Given the description of an element on the screen output the (x, y) to click on. 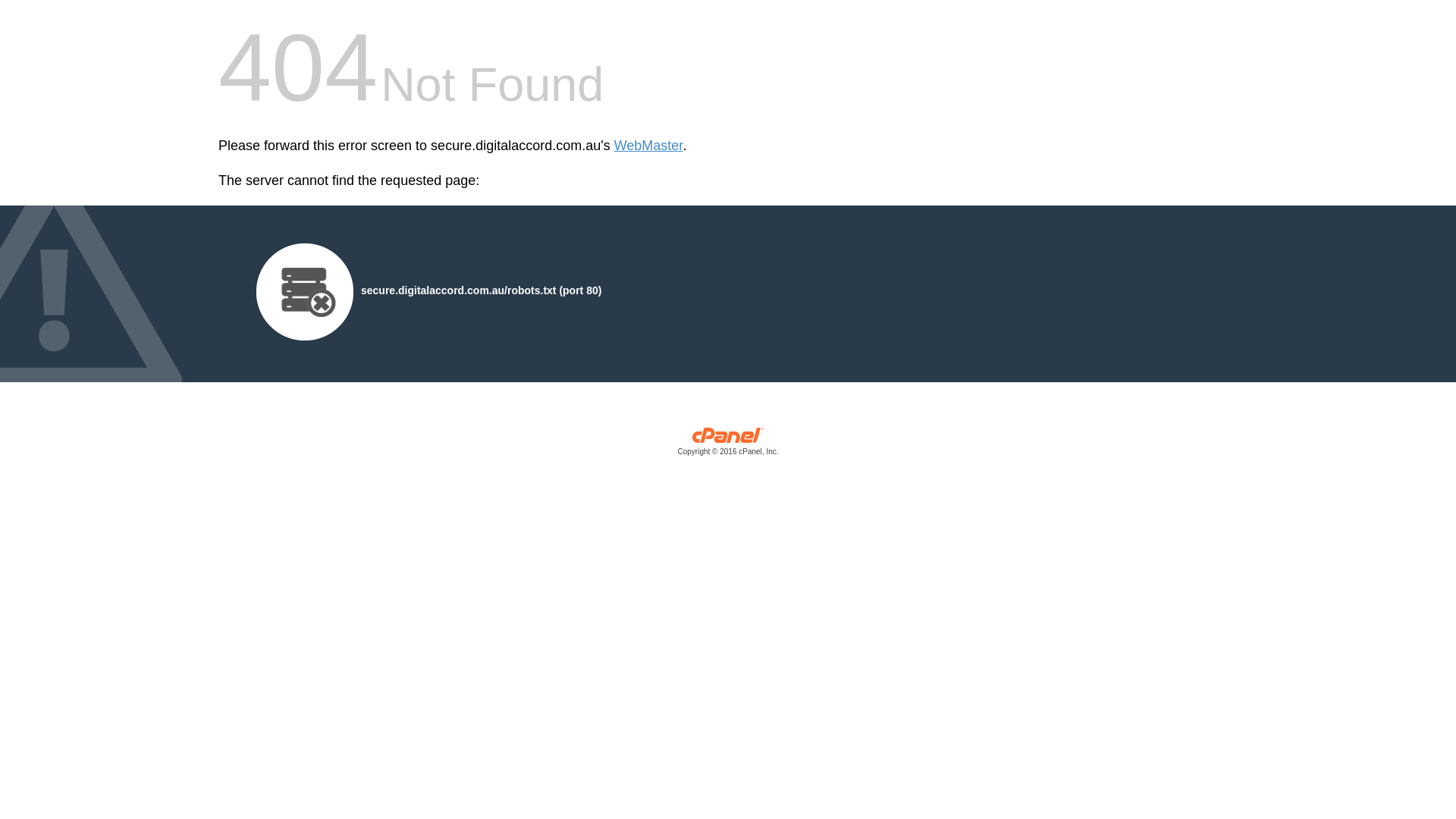
WebMaster Element type: text (648, 145)
